Given the description of an element on the screen output the (x, y) to click on. 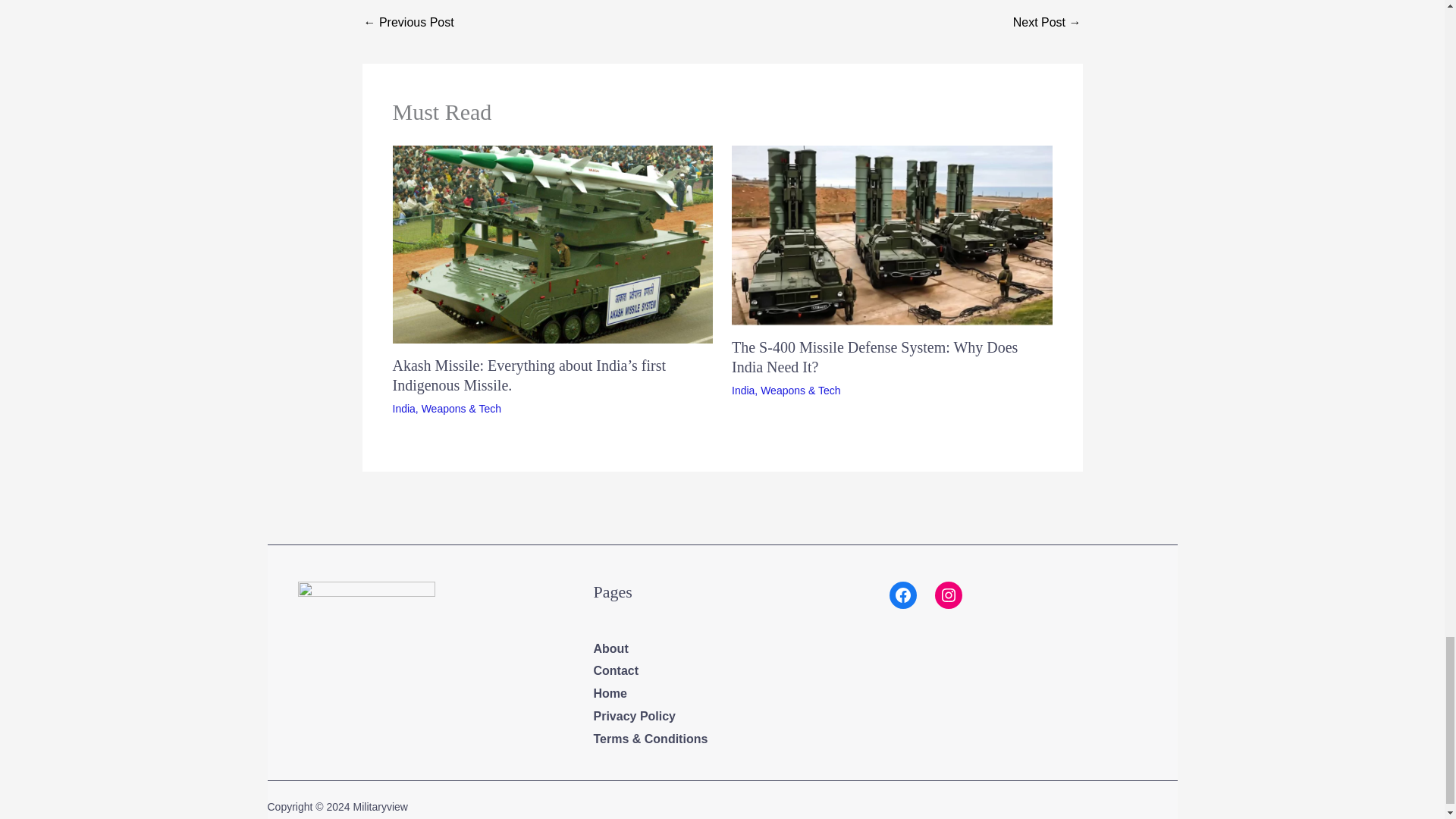
India (403, 408)
India (743, 390)
The S-400 Missile Defense System: Why Does India Need It? (874, 357)
5 Russian Weapons that could change the Game for Iran (409, 23)
